Given the description of an element on the screen output the (x, y) to click on. 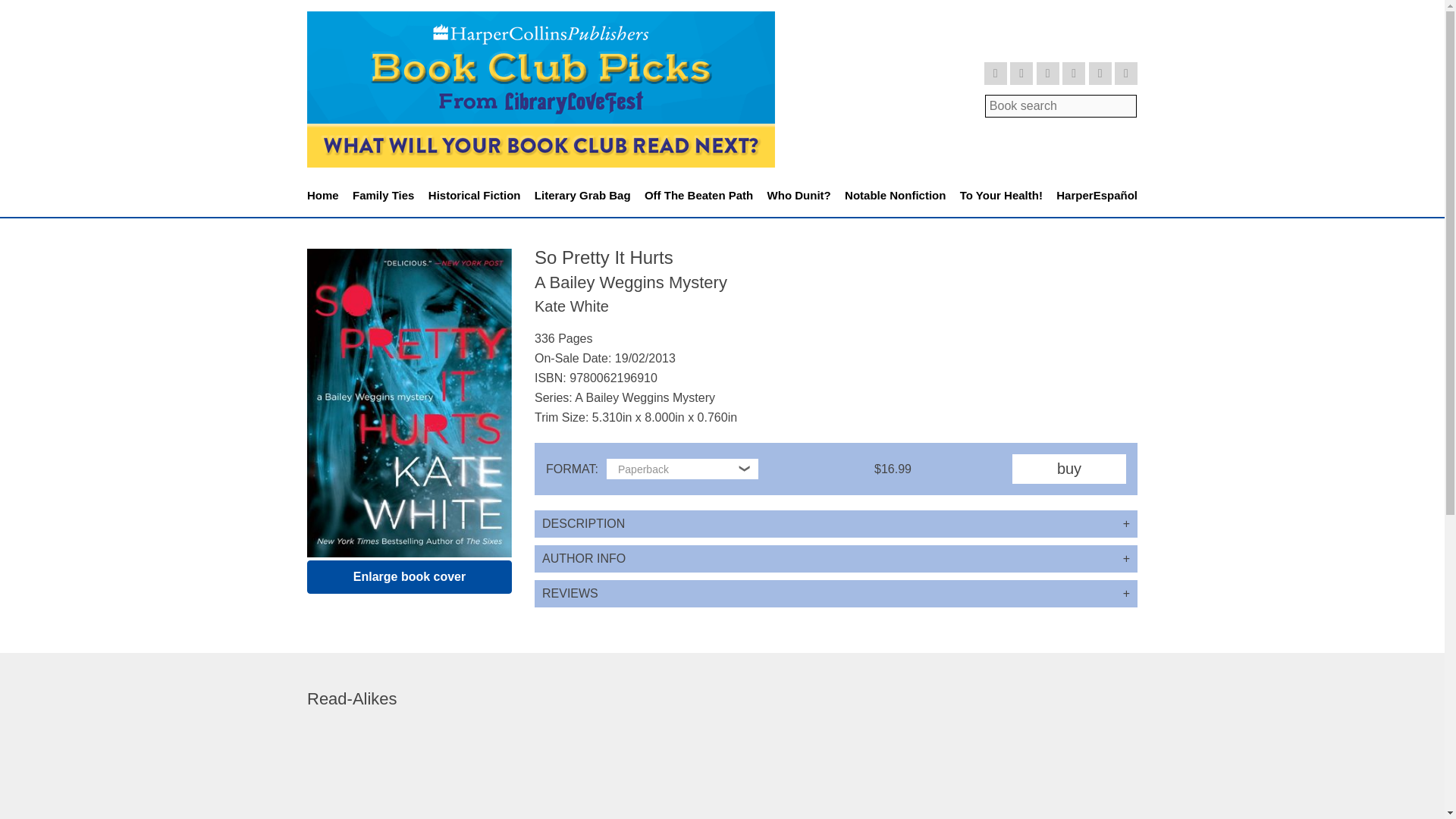
Literary Grab Bag (582, 195)
Enlarge book cover (409, 576)
To Your Health! (1000, 195)
Home (323, 195)
buy (1068, 469)
Book search: (1061, 105)
Follow us on Facebook (1021, 73)
Enlarge book cover (409, 576)
Follow us on YouTube (1073, 73)
Follow us on Email (1126, 73)
Buy the book on hc.com (1068, 469)
Follow us on Instagram (1047, 73)
Off The Beaten Path (698, 195)
